Given the description of an element on the screen output the (x, y) to click on. 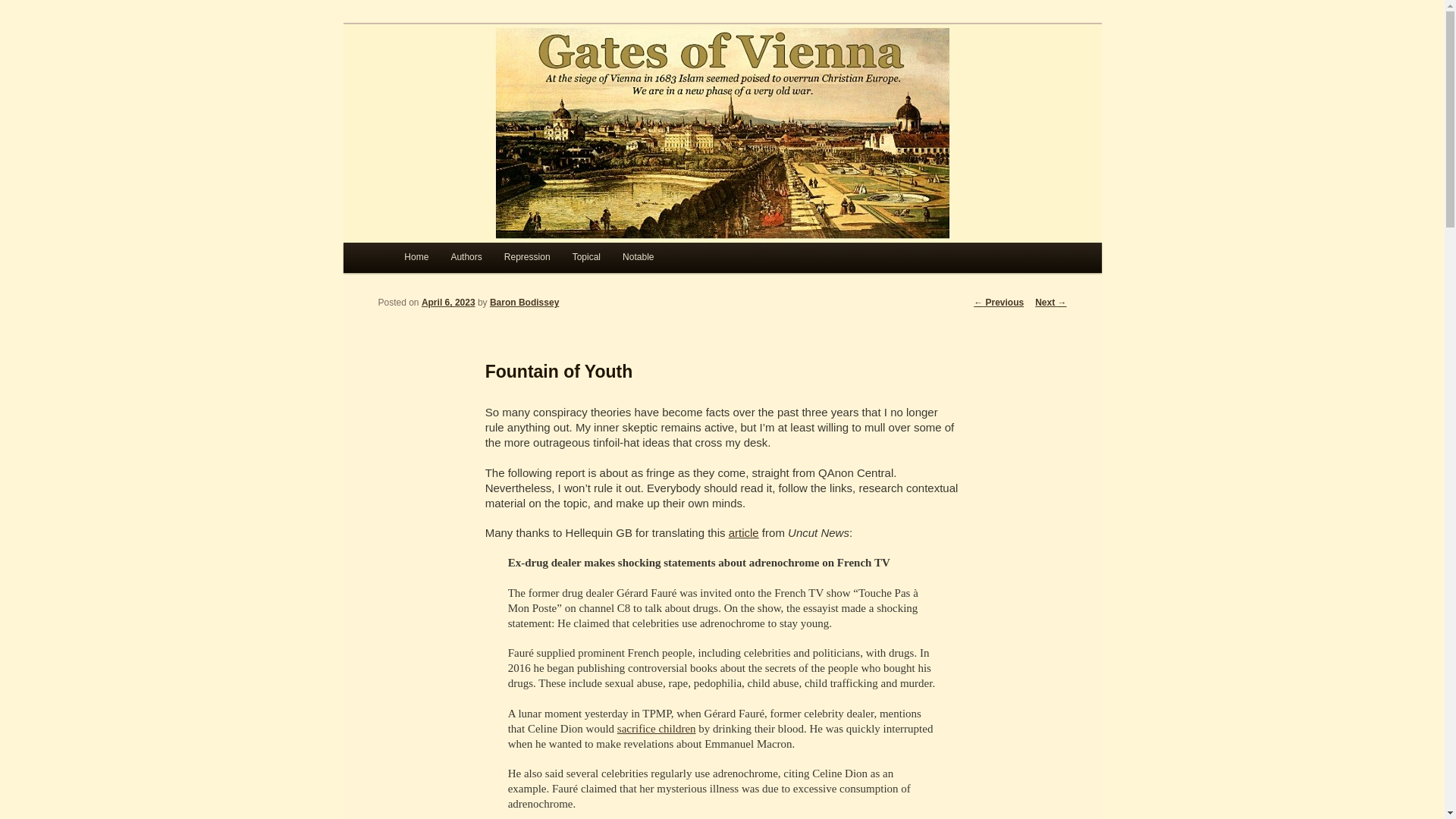
Home (416, 257)
Skip to primary content (472, 261)
Gates of Vienna (486, 78)
Repression (526, 257)
Skip to secondary content (479, 261)
Skip to primary content (472, 261)
Topical (585, 257)
Authors (466, 257)
Skip to secondary content (479, 261)
Gates of Vienna (486, 78)
10:10 pm (449, 302)
View all posts by Baron Bodissey (524, 302)
